Given the description of an element on the screen output the (x, y) to click on. 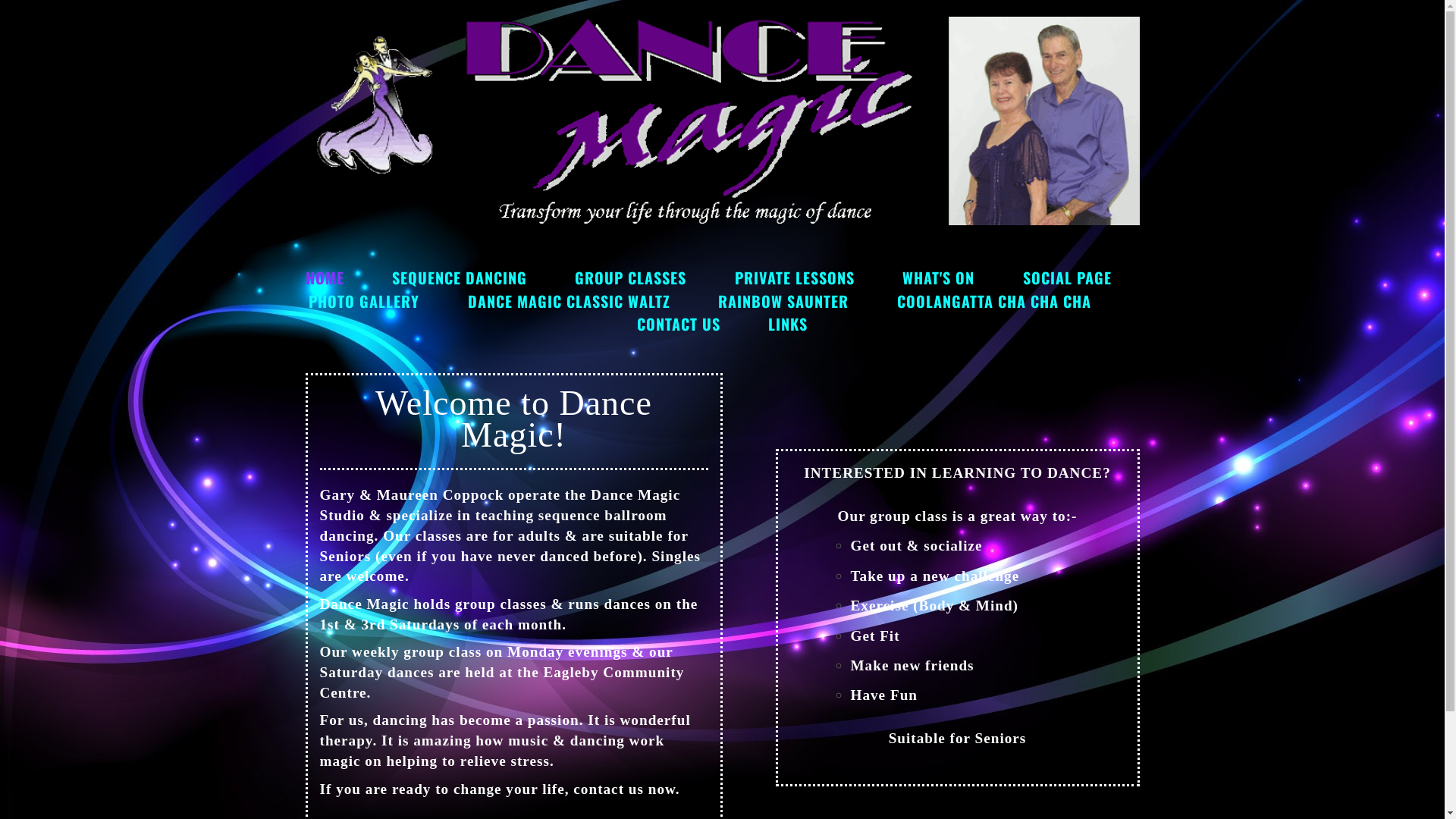
SOCIAL PAGE Element type: text (1066, 277)
RAINBOW SAUNTER Element type: text (783, 300)
WHAT'S ON Element type: text (938, 277)
LINKS Element type: text (787, 323)
COOLANGATTA CHA CHA CHA Element type: text (994, 300)
CONTACT US Element type: text (678, 323)
DANCE MAGIC CLASSIC WALTZ Element type: text (568, 300)
HOME Element type: text (323, 277)
PRIVATE LESSONS Element type: text (794, 277)
SEQUENCE DANCING Element type: text (459, 277)
PHOTO GALLERY Element type: text (363, 300)
GROUP CLASSES Element type: text (630, 277)
